Given the description of an element on the screen output the (x, y) to click on. 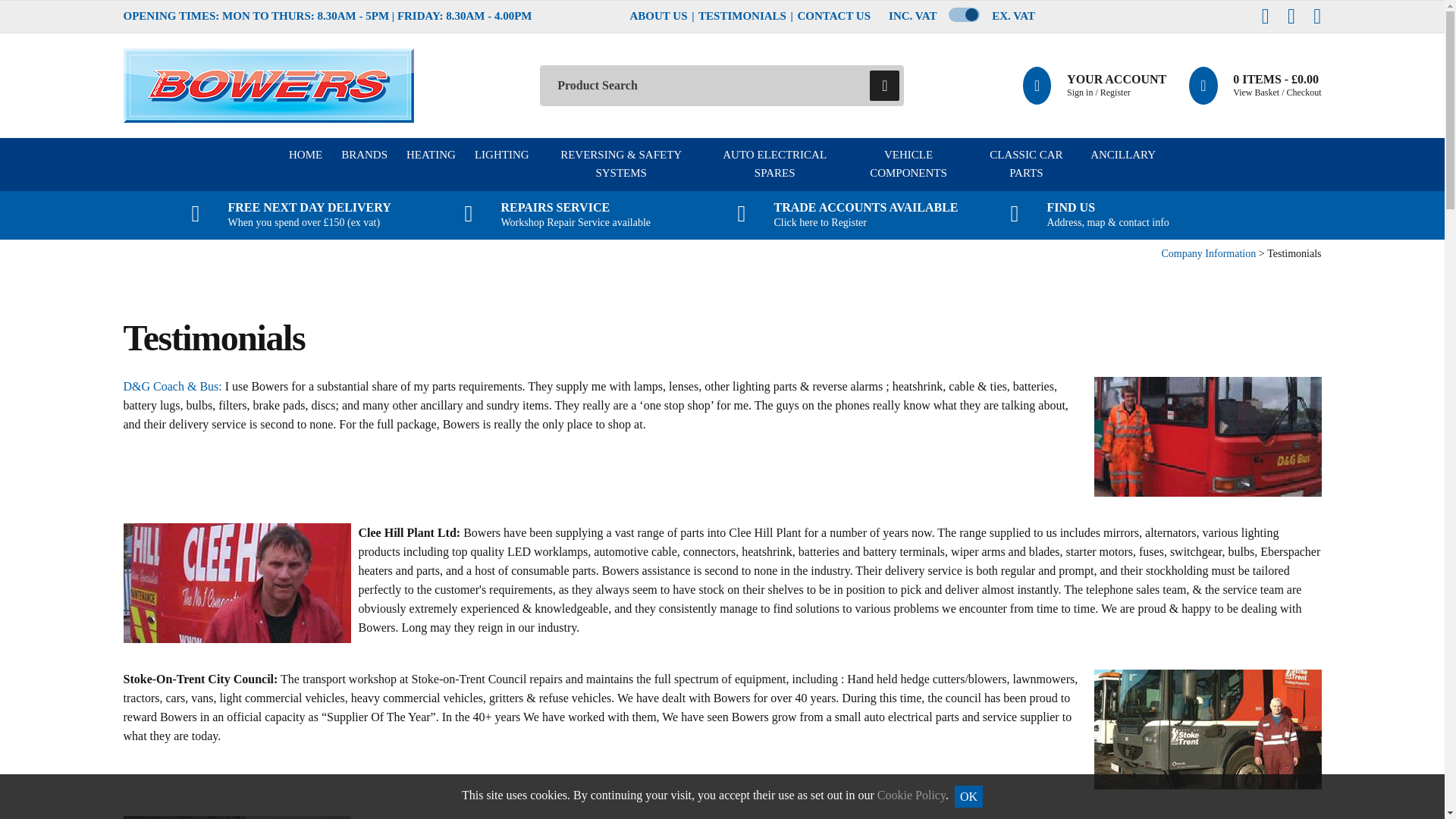
BRANDS (364, 164)
HOME (305, 164)
ABOUT US (657, 16)
INC. VAT (912, 16)
EX. VAT (1013, 16)
GO (884, 85)
CONTACT US (833, 16)
TESTIMONIALS (742, 16)
